Given the description of an element on the screen output the (x, y) to click on. 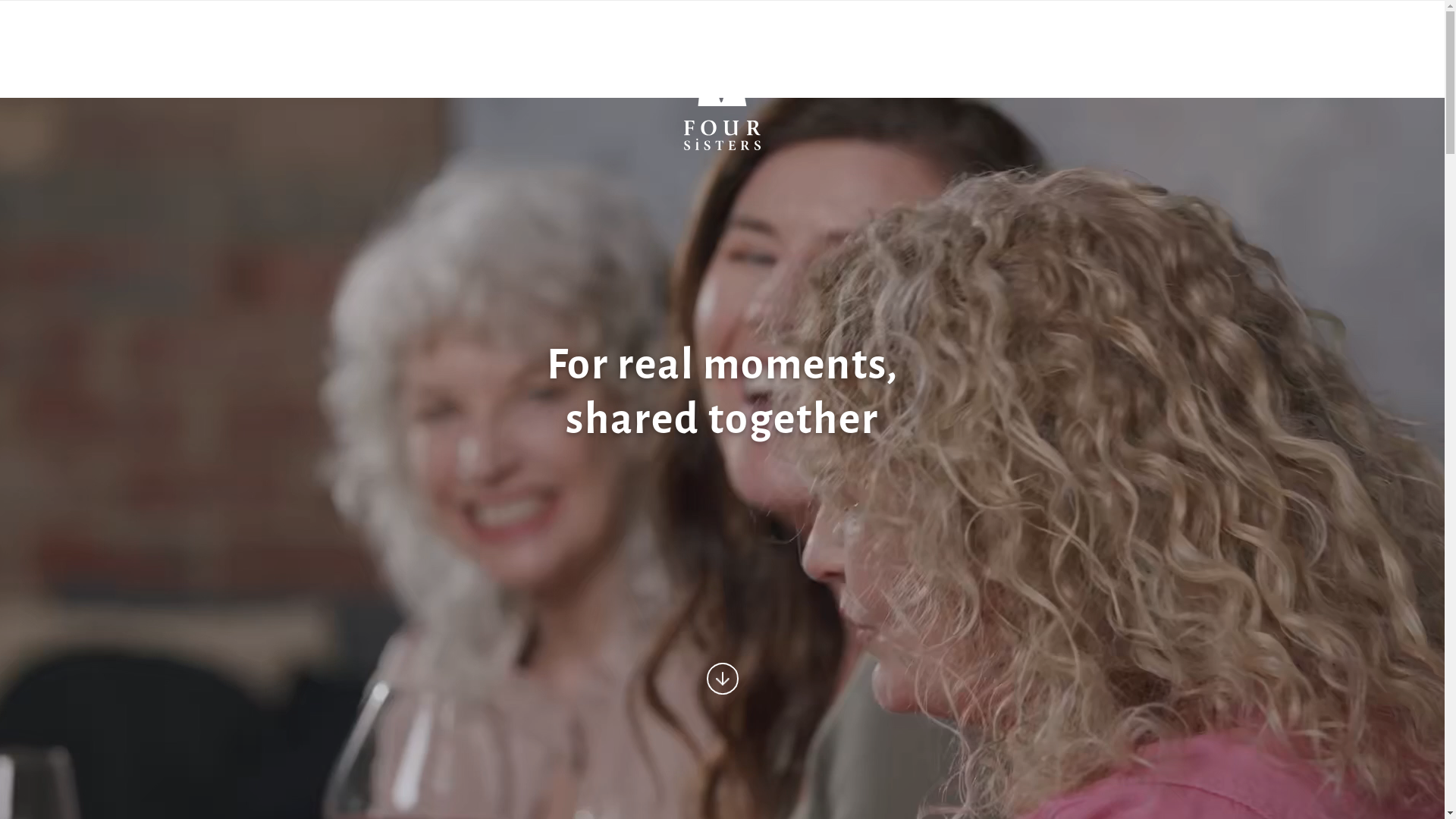
Menu Element type: text (52, 27)
